Given the description of an element on the screen output the (x, y) to click on. 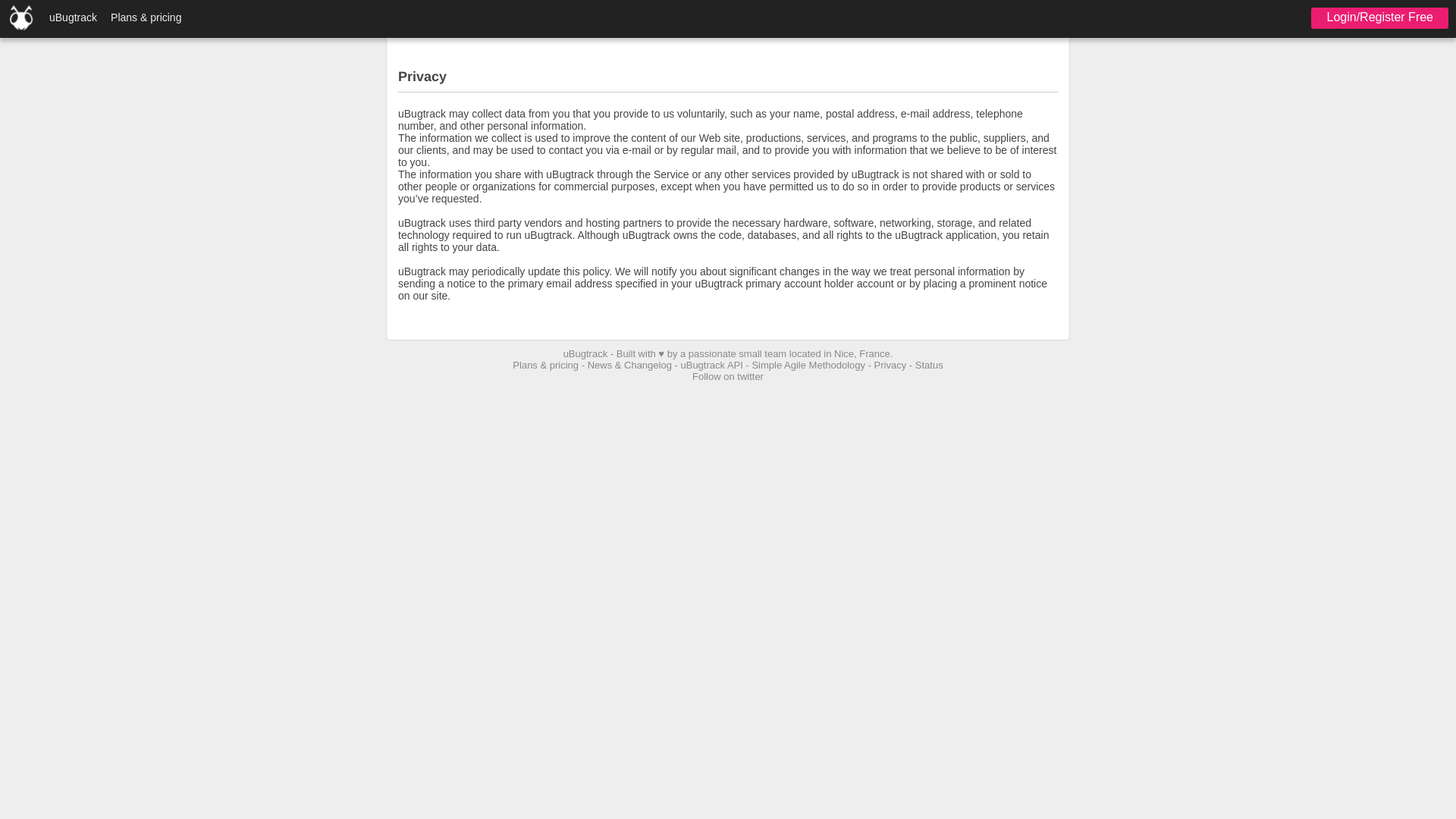
Privacy (891, 365)
Simple Agile Methodology (807, 365)
Status (929, 365)
uBugtrack API (710, 365)
uBugtrack (73, 17)
Follow on twitter (727, 376)
